Given the description of an element on the screen output the (x, y) to click on. 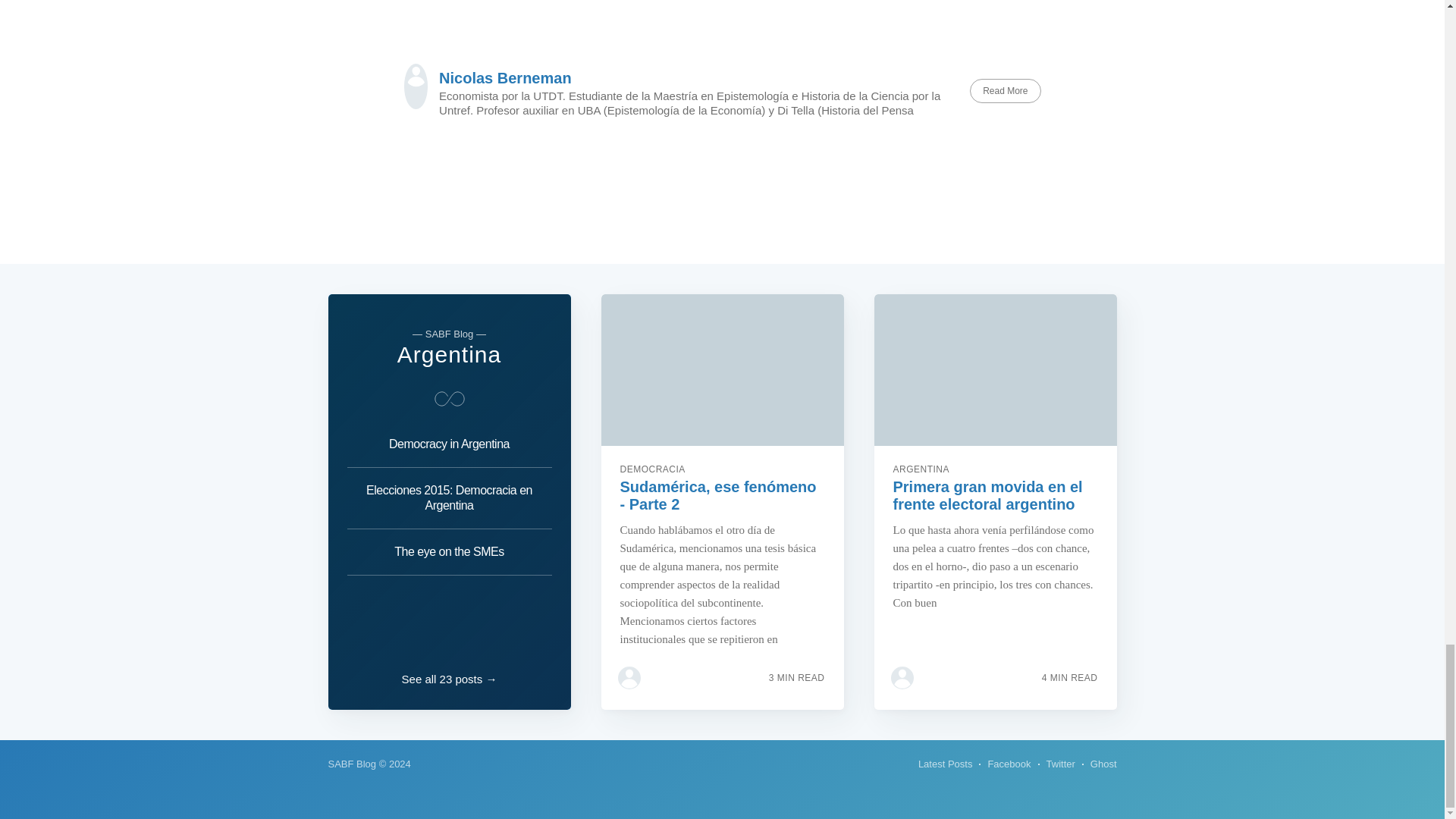
Nicolas Berneman (505, 77)
Twitter (1060, 764)
Latest Posts (945, 764)
Ghost (1103, 764)
The eye on the SMEs (449, 552)
Democracy in Argentina (449, 448)
Elecciones 2015: Democracia en Argentina (449, 498)
Facebook (1008, 764)
Read More (1005, 90)
SABF Blog (351, 763)
Argentina (448, 354)
